Given the description of an element on the screen output the (x, y) to click on. 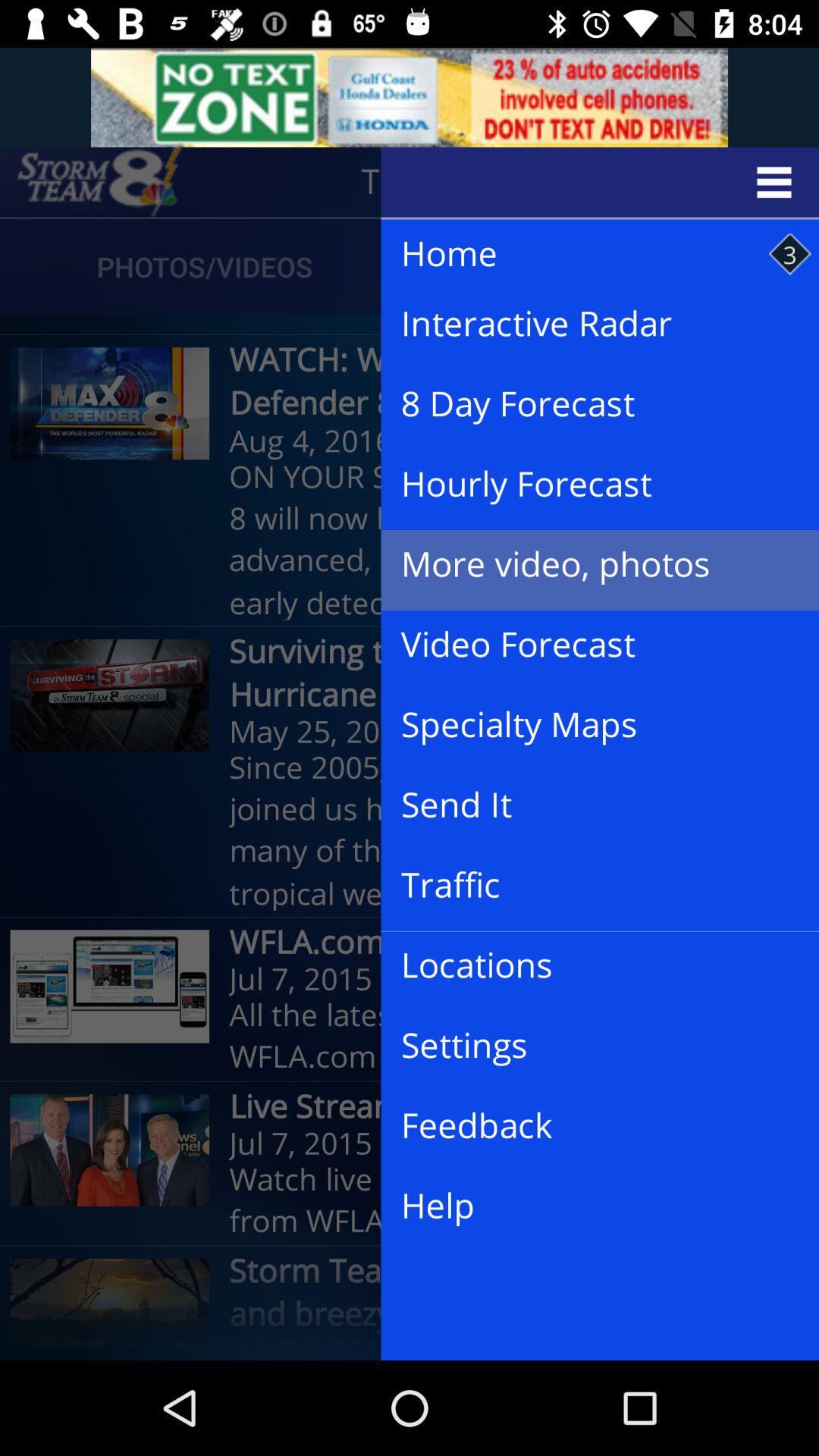
turn on feedback icon (587, 1126)
